Given the description of an element on the screen output the (x, y) to click on. 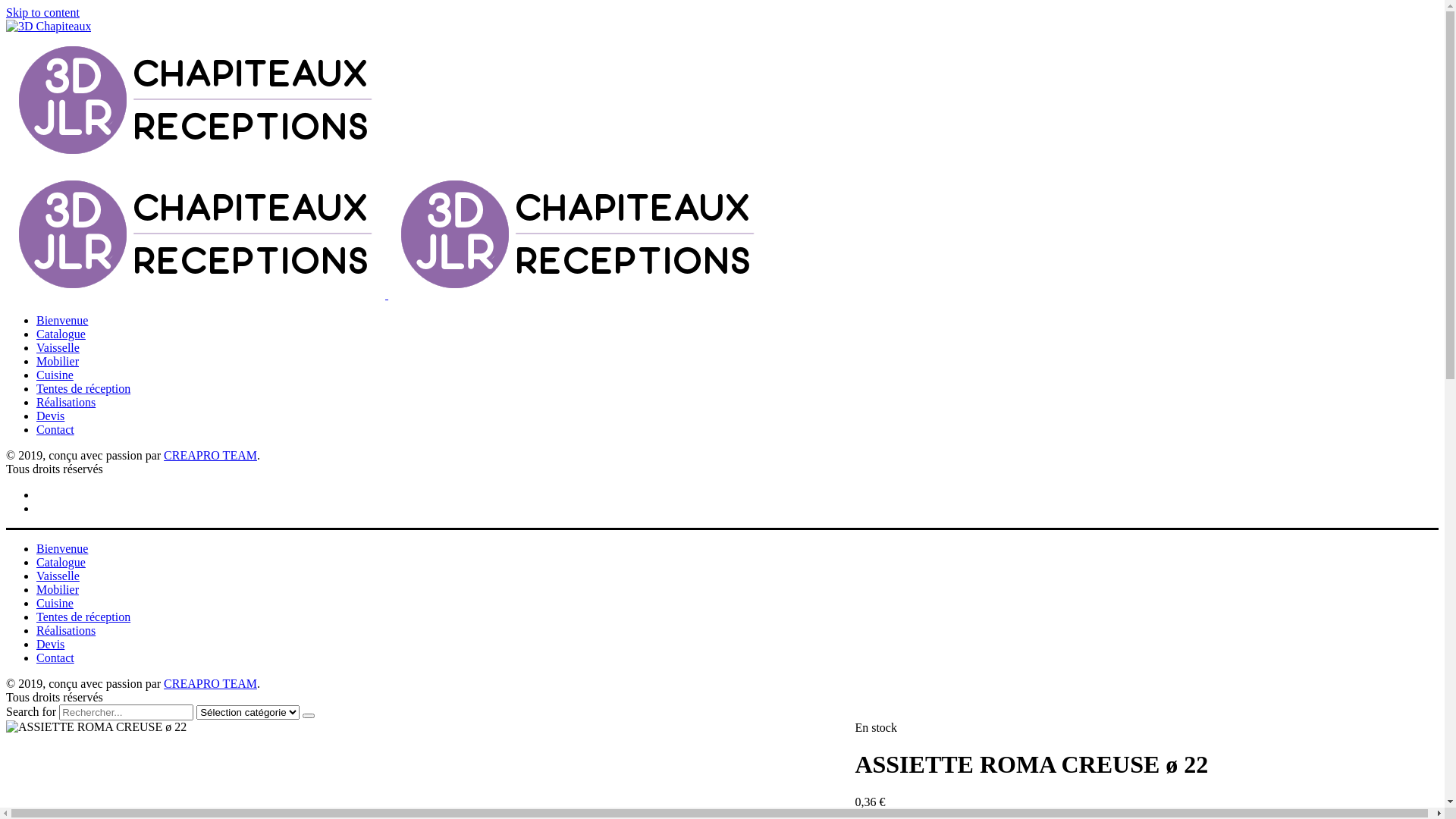
Catalogue Element type: text (60, 561)
Cuisine Element type: text (54, 602)
Contact Element type: text (55, 657)
Bienvenue Element type: text (61, 548)
Mobilier Element type: text (57, 360)
Devis Element type: text (50, 415)
Contact Element type: text (55, 429)
Cuisine Element type: text (54, 374)
Vaisselle Element type: text (57, 575)
Catalogue Element type: text (60, 333)
Mobilier Element type: text (57, 589)
Vaisselle Element type: text (57, 347)
Skip to content Element type: text (42, 12)
Bienvenue Element type: text (61, 319)
CREAPRO TEAM Element type: text (210, 454)
Devis Element type: text (50, 643)
CREAPRO TEAM Element type: text (210, 683)
